Given the description of an element on the screen output the (x, y) to click on. 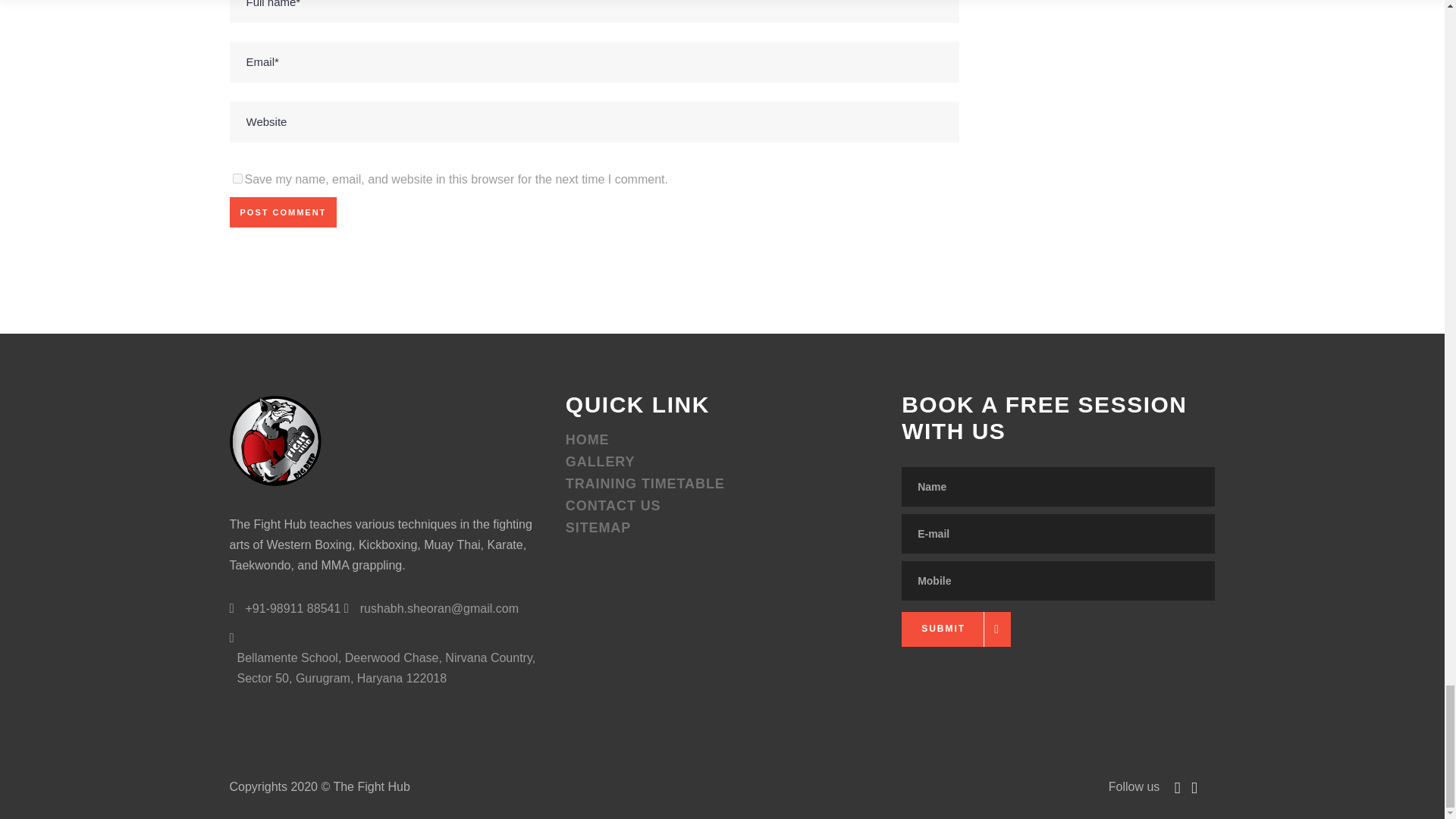
Send (956, 633)
yes (236, 178)
Post comment (282, 212)
